Given the description of an element on the screen output the (x, y) to click on. 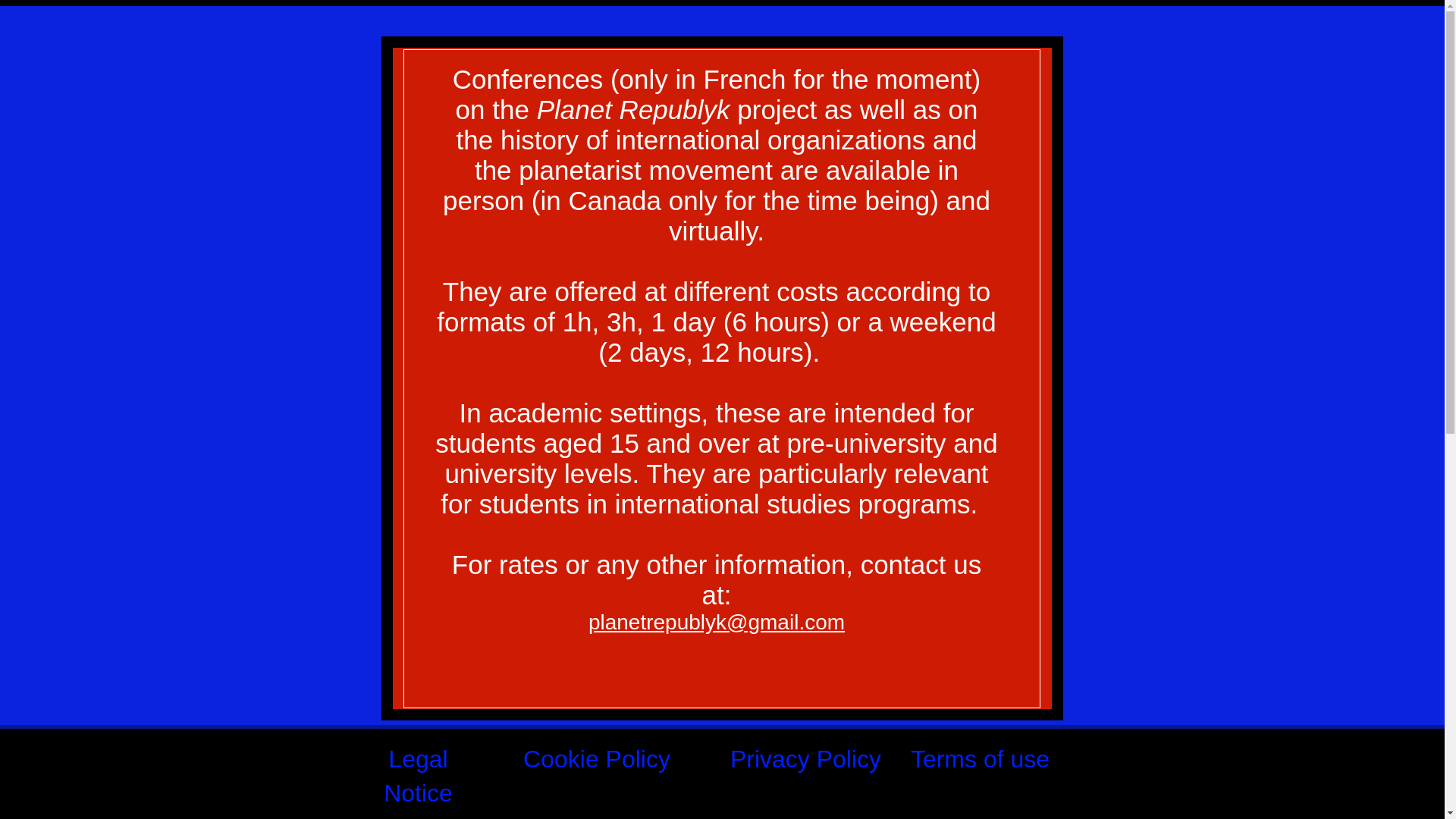
Terms of use (980, 759)
Privacy Policy (805, 759)
Cookie Policy (595, 759)
Legal Notice (418, 775)
